Given the description of an element on the screen output the (x, y) to click on. 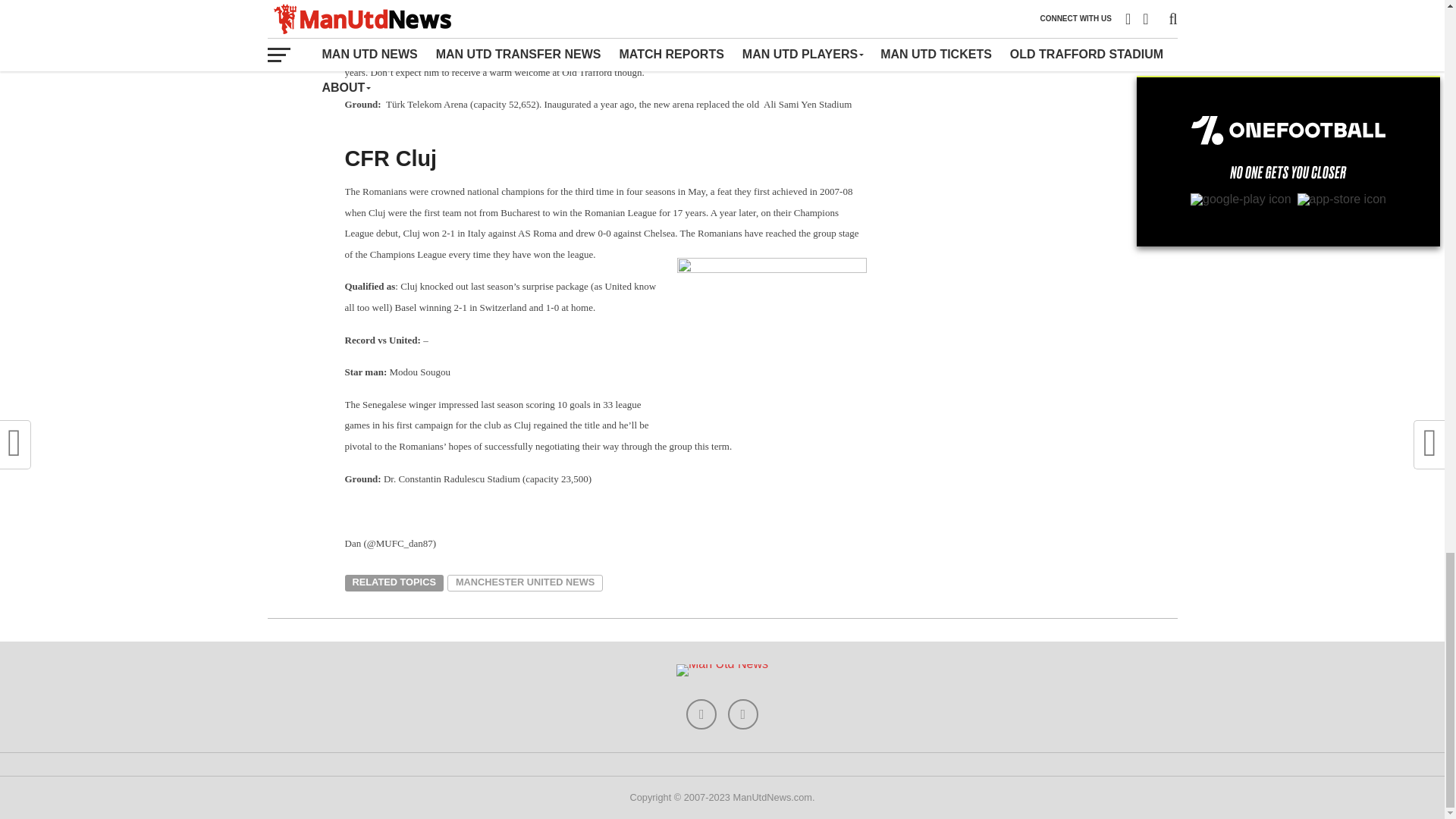
cluj (771, 328)
MANCHESTER UNITED NEWS (524, 582)
